Given the description of an element on the screen output the (x, y) to click on. 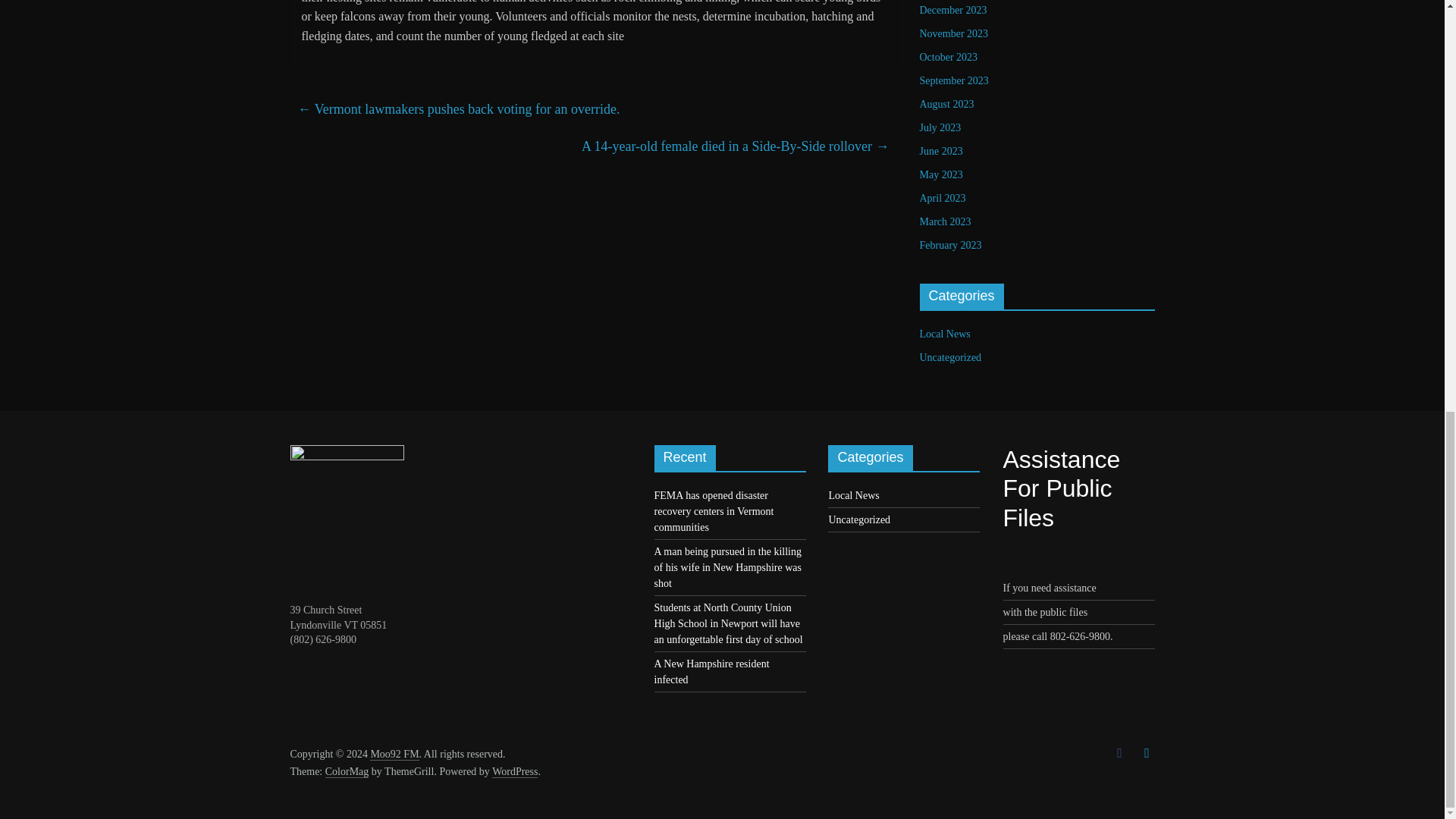
ColorMag (346, 771)
Moo92 FM (394, 754)
WordPress (514, 771)
